Given the description of an element on the screen output the (x, y) to click on. 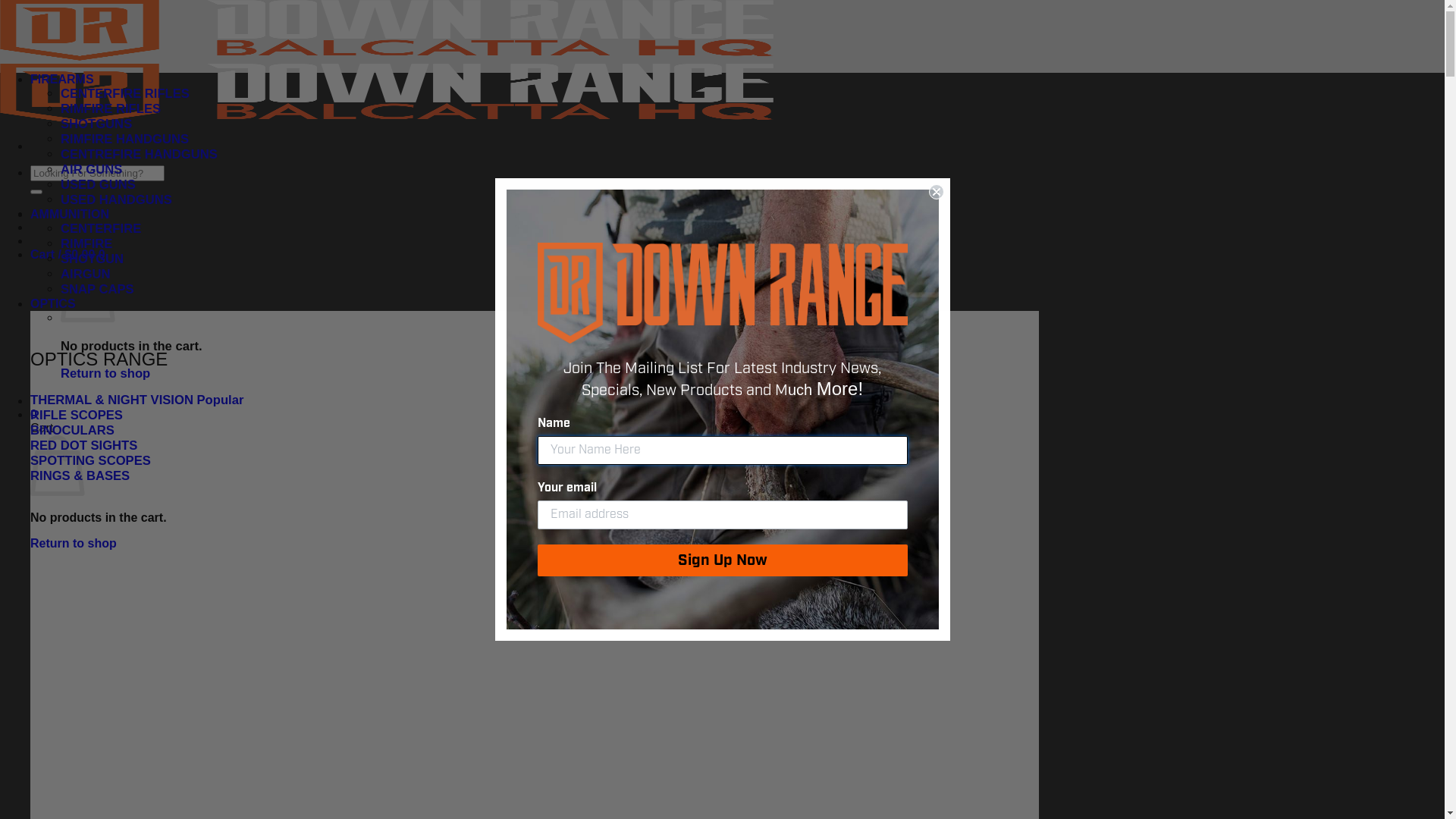
SNAP CAPS Element type: text (97, 289)
RIMFIRE Element type: text (86, 243)
RINGS & BASES Element type: text (79, 475)
USED GUNS Element type: text (97, 184)
SHOTGUNS Element type: text (95, 123)
Sign Up Now Element type: text (721, 560)
Cart / $0.00 0 Element type: text (67, 253)
THERMAL & NIGHT VISION Element type: text (136, 399)
OPTICS Element type: text (52, 303)
FIREARMS Element type: text (62, 78)
Close dialog 1 Element type: text (935, 191)
RIMFIRE RIFLES Element type: text (110, 108)
Search Element type: text (36, 191)
AMMUNITION Element type: text (69, 213)
AIRGUN Element type: text (85, 273)
Return to shop Element type: text (73, 542)
Submit Element type: text (21, 7)
BINOCULARS Element type: text (72, 430)
SPOTTING SCOPES Element type: text (90, 460)
RED DOT SIGHTS Element type: text (83, 445)
USED HANDGUNS Element type: text (116, 199)
CENTERFIRE Element type: text (100, 228)
RIFLE SCOPES Element type: text (76, 414)
Downrange Firearms - Downrange Firearms Element type: hover (386, 88)
0 Element type: text (33, 413)
AIR GUNS Element type: text (91, 169)
Return to shop Element type: text (105, 373)
RIMFIRE HANDGUNS Element type: text (124, 138)
CENTREFIRE HANDGUNS Element type: text (138, 154)
SHOTGUN Element type: text (91, 258)
CENTERFIRE RIFLES Element type: text (124, 93)
